Given the description of an element on the screen output the (x, y) to click on. 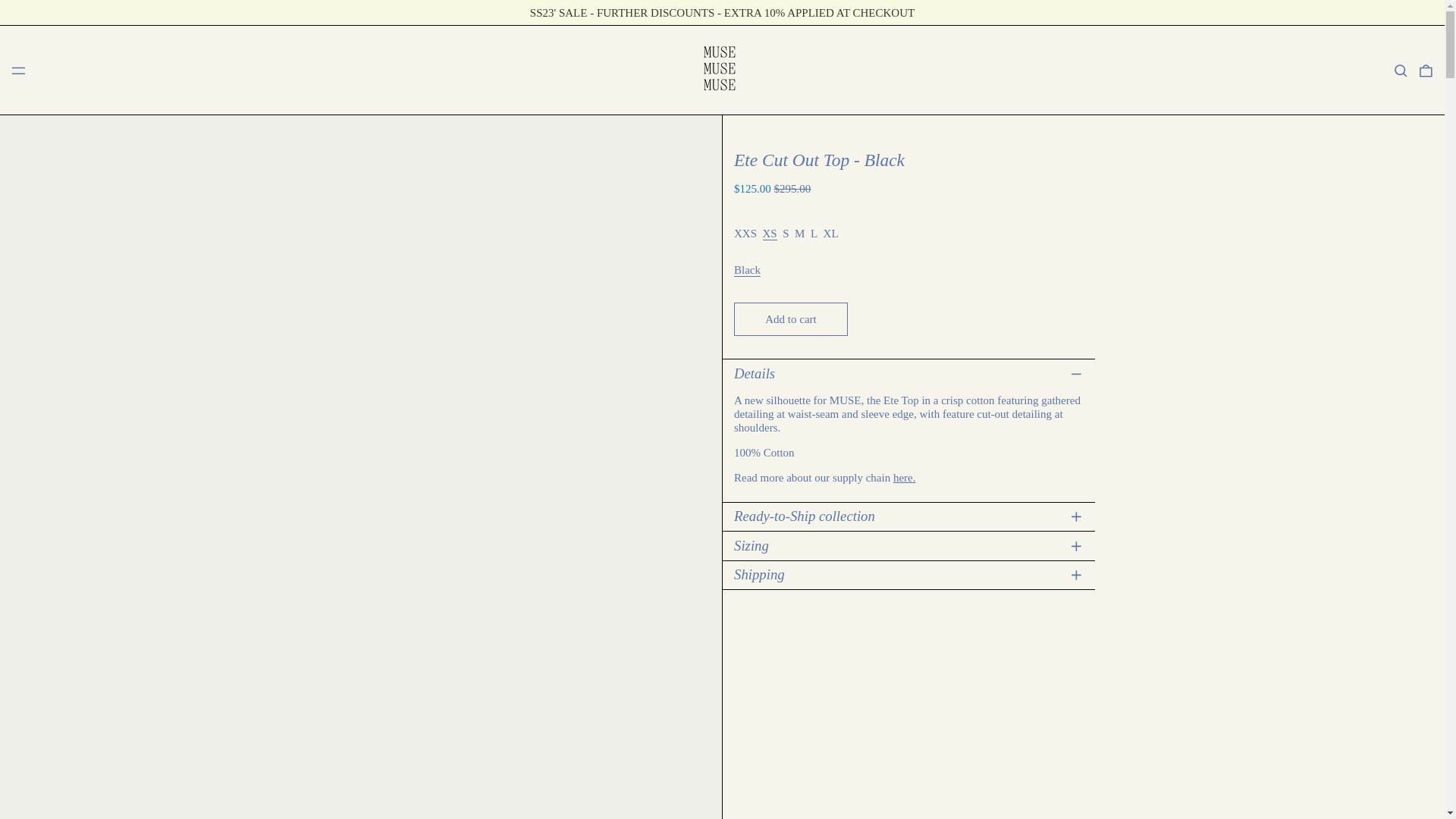
Add to cart (790, 318)
here. (904, 477)
Details (908, 374)
Ready-to-Ship collection  (908, 516)
